Given the description of an element on the screen output the (x, y) to click on. 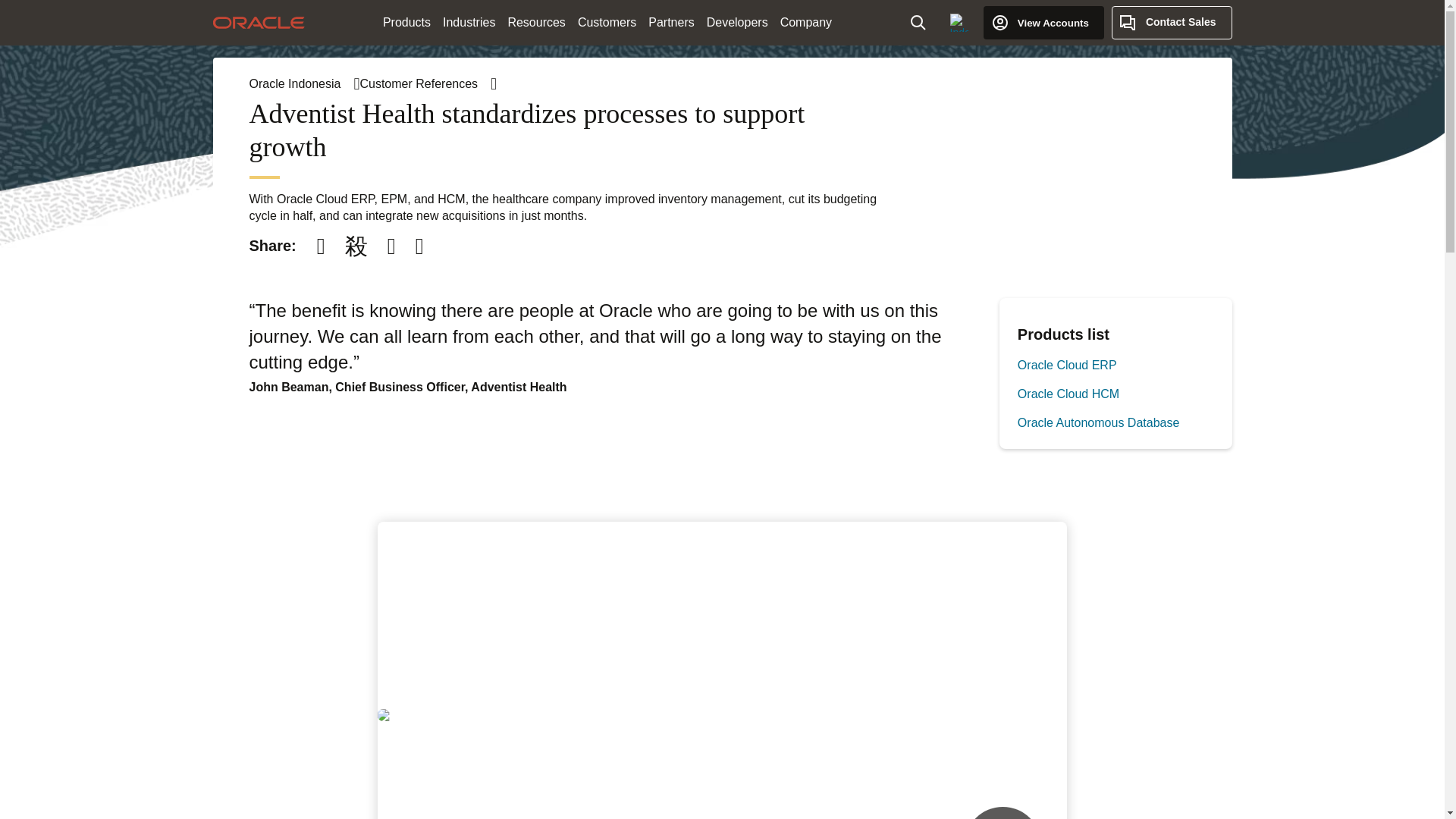
Share on Twitter (355, 246)
Industries (468, 22)
Customer References (427, 83)
Company (806, 22)
Products (406, 22)
Oracle Indonesia (303, 83)
Contact Sales (1171, 22)
Developers (737, 22)
Customers (607, 22)
Partners (671, 22)
